Given the description of an element on the screen output the (x, y) to click on. 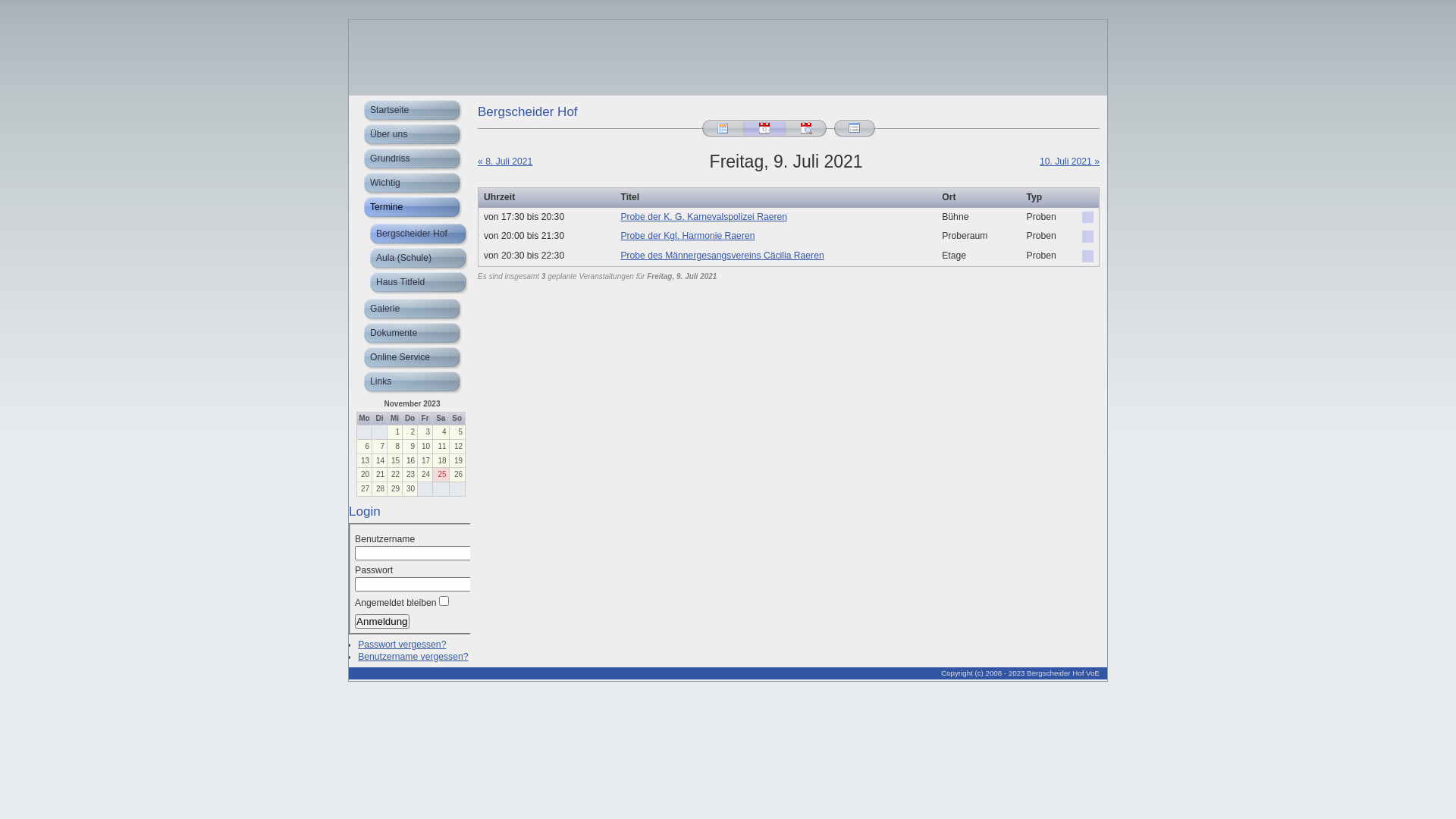
Aula (Schule) Element type: text (409, 258)
25 Element type: text (440, 474)
1 Element type: text (394, 432)
Terminliste anzeigen Element type: hover (854, 128)
7 Element type: text (379, 446)
Probe der Kgl. Harmonie Raeren Element type: text (687, 235)
16 Element type: text (409, 460)
Tagesansicht Element type: hover (763, 128)
Passwort vergessen? Element type: text (401, 644)
13 Element type: text (364, 460)
Termine Element type: text (409, 208)
4 Element type: text (440, 432)
10 Element type: text (424, 446)
Detailansicht Element type: hover (805, 128)
11 Element type: text (440, 446)
21 Element type: text (379, 474)
20 Element type: text (364, 474)
19 Element type: text (456, 460)
27 Element type: text (364, 488)
Anmeldung Element type: text (381, 621)
12 Element type: text (456, 446)
Dokumente Element type: text (409, 334)
17 Element type: text (424, 460)
23 Element type: text (409, 474)
Monatsansicht Element type: hover (722, 128)
Galerie Element type: text (409, 309)
9 Element type: text (409, 446)
Bergscheider Hof Element type: text (409, 234)
3 Element type: text (424, 432)
26 Element type: text (456, 474)
Probe der K. G. Karnevalspolizei Raeren Element type: text (703, 216)
18 Element type: text (440, 460)
14 Element type: text (379, 460)
30 Element type: text (409, 488)
Wichtig Element type: text (409, 183)
Startseite Element type: text (409, 111)
29 Element type: text (394, 488)
6 Element type: text (364, 446)
28 Element type: text (379, 488)
Grundriss Element type: text (409, 159)
24 Element type: text (424, 474)
15 Element type: text (394, 460)
Haus Titfeld Element type: text (409, 283)
5 Element type: text (456, 432)
Links Element type: text (409, 382)
2 Element type: text (409, 432)
Benutzername vergessen? Element type: text (412, 656)
Online Service Element type: text (409, 358)
8 Element type: text (394, 446)
22 Element type: text (394, 474)
